Given the description of an element on the screen output the (x, y) to click on. 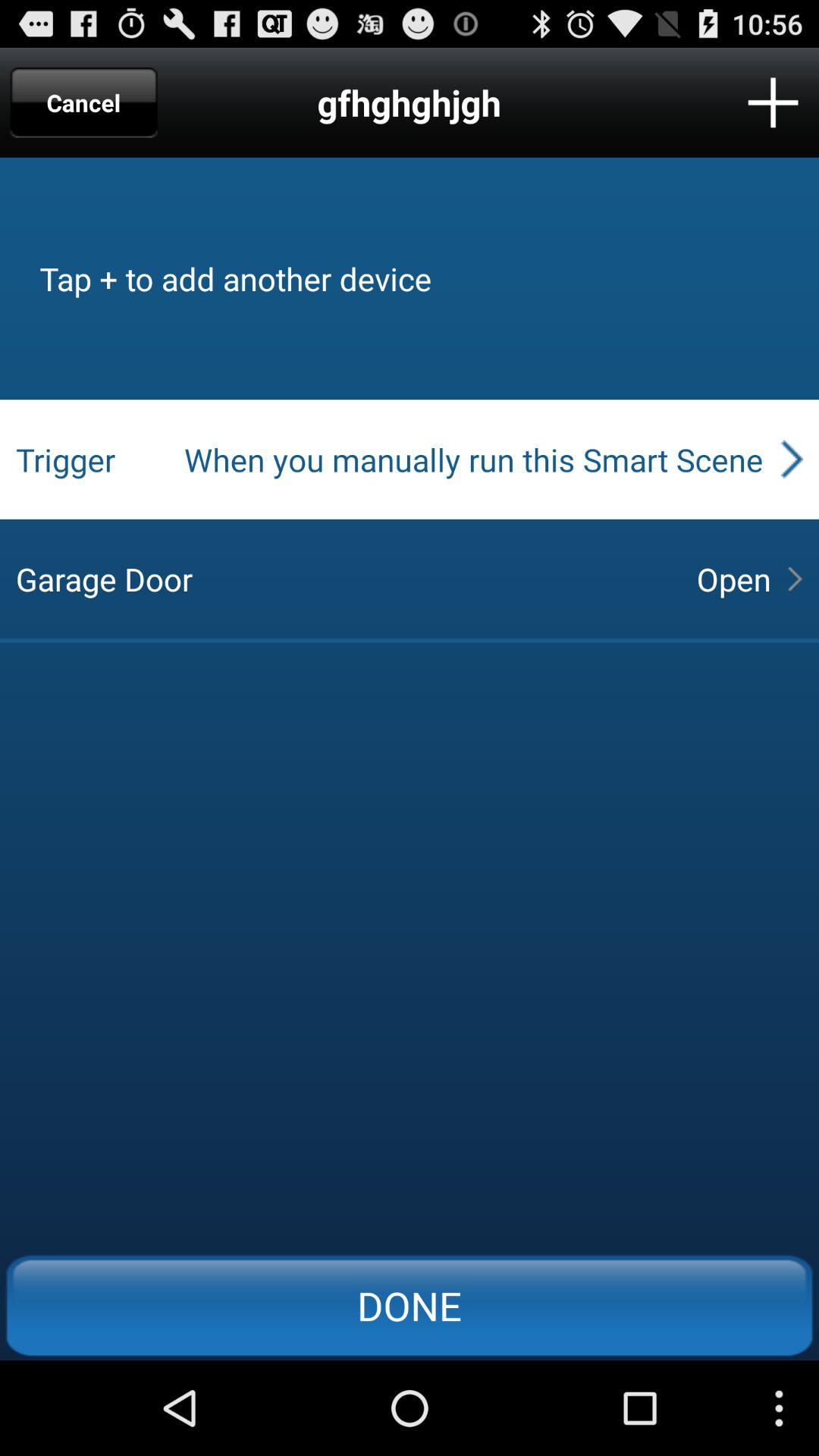
add another device (773, 102)
